Given the description of an element on the screen output the (x, y) to click on. 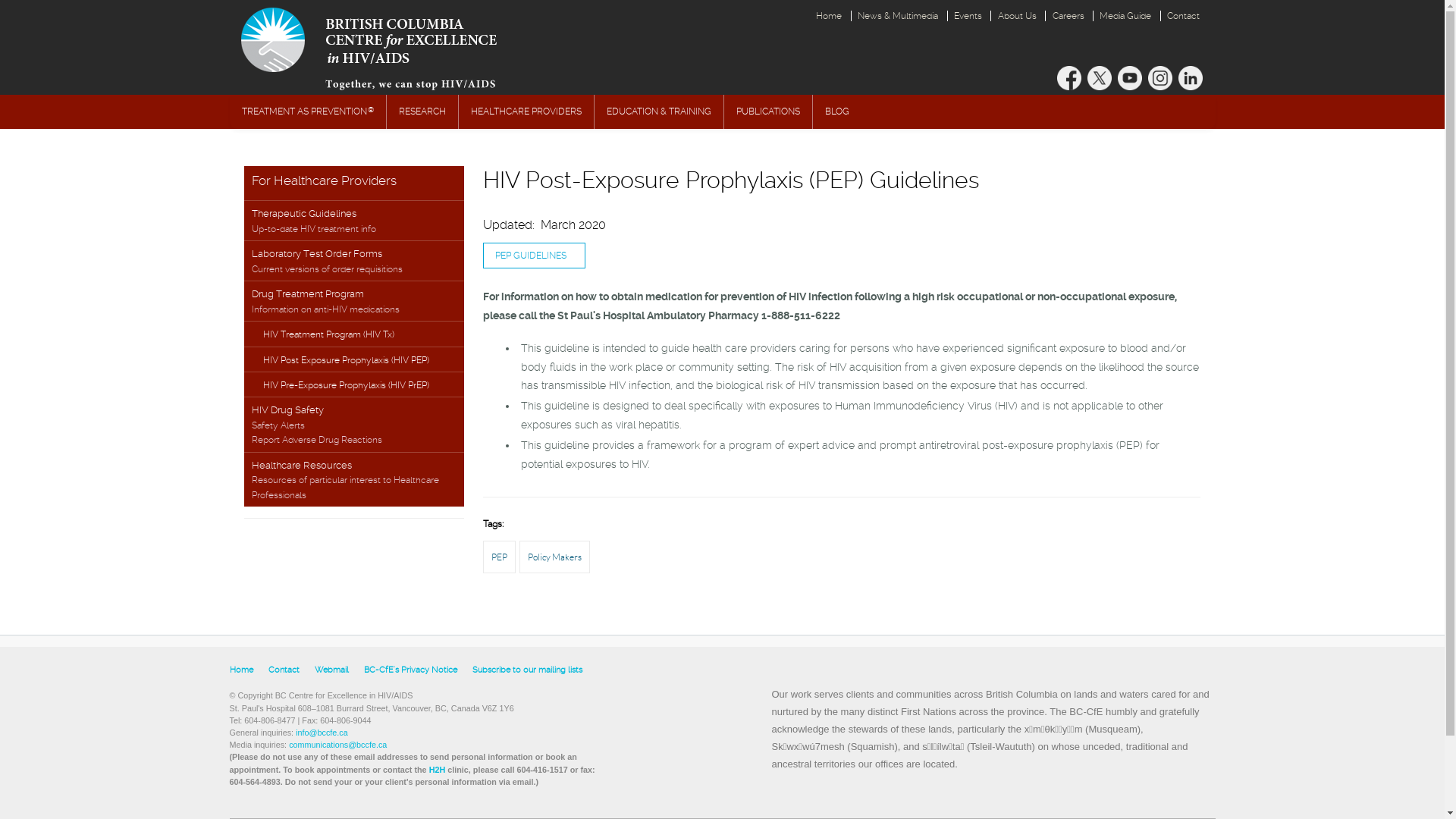
On Facebook Element type: text (1069, 77)
Home Element type: text (240, 669)
H2H Element type: text (437, 769)
About Us Element type: text (1016, 15)
Therapeutic Guidelines
Up-to-date HIV treatment info Element type: text (354, 220)
Media Guide Element type: text (1125, 15)
RESEARCH Element type: text (422, 111)
Events Element type: text (967, 15)
HEALTHCARE PROVIDERS Element type: text (525, 111)
Subscribe to our mailing lists Element type: text (526, 669)
On Youtube Element type: text (1129, 77)
On Instagram Element type: text (1160, 77)
TREATMENT AS PREVENTION Element type: text (307, 111)
Home Element type: text (828, 15)
Contact Element type: text (1183, 15)
On LinkedIn Element type: text (1190, 77)
PEP GUIDELINES Element type: text (534, 255)
HIV Pre-Exposure Prophylaxis (HIV PrEP) Element type: text (354, 383)
News & Multimedia Element type: text (897, 15)
HIV Post Exposure Prophylaxis (HIV PEP) Element type: text (354, 358)
Drug Treatment Program
Information on anti-HIV medications Element type: text (354, 300)
info@bccfe.ca Element type: text (321, 732)
EDUCATION & TRAINING Element type: text (658, 111)
On Twitter Element type: text (1099, 77)
Policy Makers Element type: text (554, 557)
BLOG Element type: text (836, 111)
BC-CfE's Privacy Notice Element type: text (410, 669)
BC Centre for Excellence in HIV/AIDS Element type: text (384, 47)
PUBLICATIONS Element type: text (767, 111)
communications@bccfe.ca Element type: text (337, 744)
Contact Element type: text (283, 669)
Webmail Element type: text (330, 669)
Careers Element type: text (1067, 15)
HIV Drug Safety
Safety Alerts
Report Adverse Drug Reactions Element type: text (354, 423)
PEP Element type: text (498, 557)
HIV Treatment Program (HIV Tx) Element type: text (354, 332)
